Given the description of an element on the screen output the (x, y) to click on. 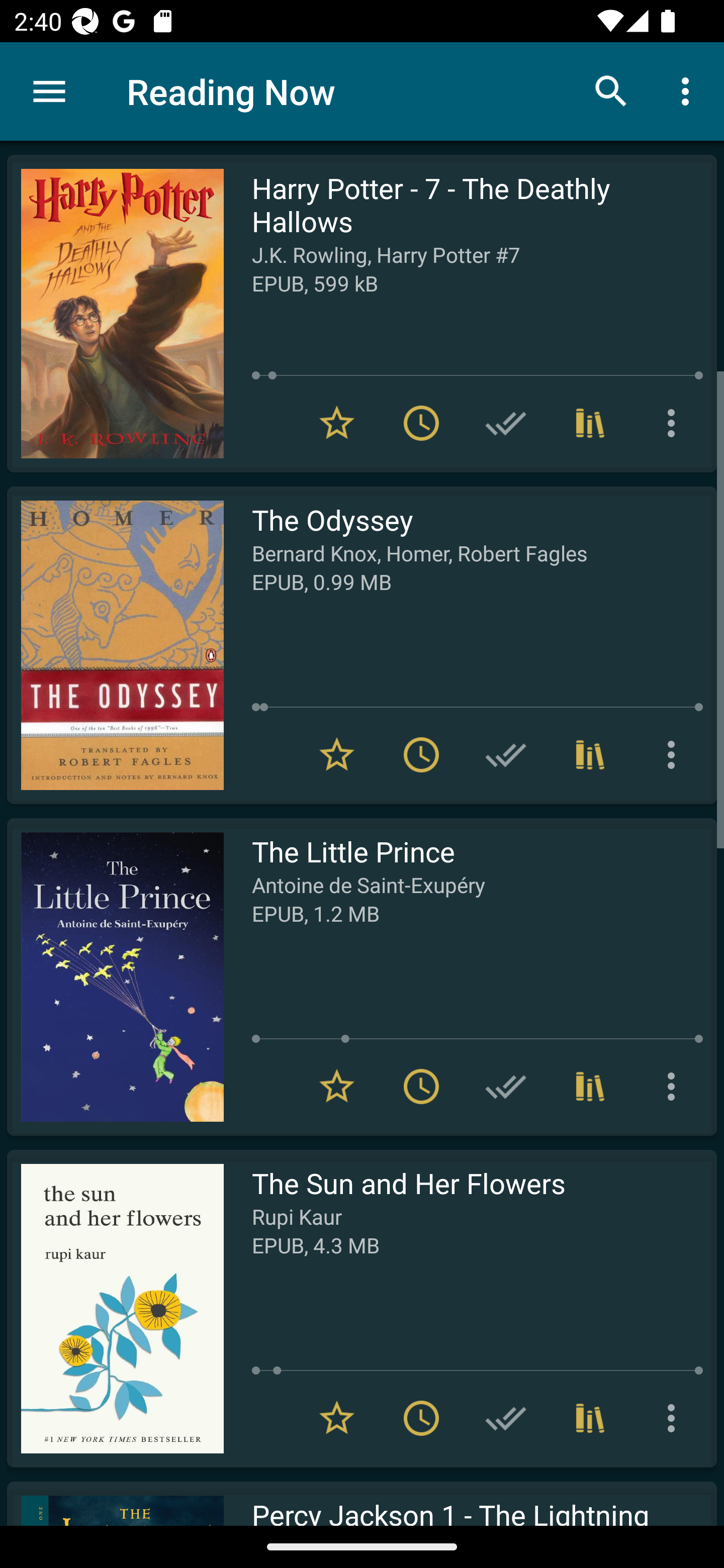
Menu (49, 91)
Search books & documents (611, 90)
More options (688, 90)
Read Harry Potter - 7 - The Deathly Hallows (115, 313)
Remove from Favorites (336, 423)
Remove from To read (421, 423)
Add to Have read (505, 423)
Collections (3) (590, 423)
More options (674, 423)
Read The Odyssey (115, 645)
Remove from Favorites (336, 753)
Remove from To read (421, 753)
Add to Have read (505, 753)
Collections (3) (590, 753)
More options (674, 753)
Read The Little Prince (115, 976)
Remove from Favorites (336, 1086)
Remove from To read (421, 1086)
Add to Have read (505, 1086)
Collections (1) (590, 1086)
More options (674, 1086)
Read The Sun and Her Flowers (115, 1308)
Remove from Favorites (336, 1417)
Remove from To read (421, 1417)
Add to Have read (505, 1417)
Collections (1) (590, 1417)
More options (674, 1417)
